Given the description of an element on the screen output the (x, y) to click on. 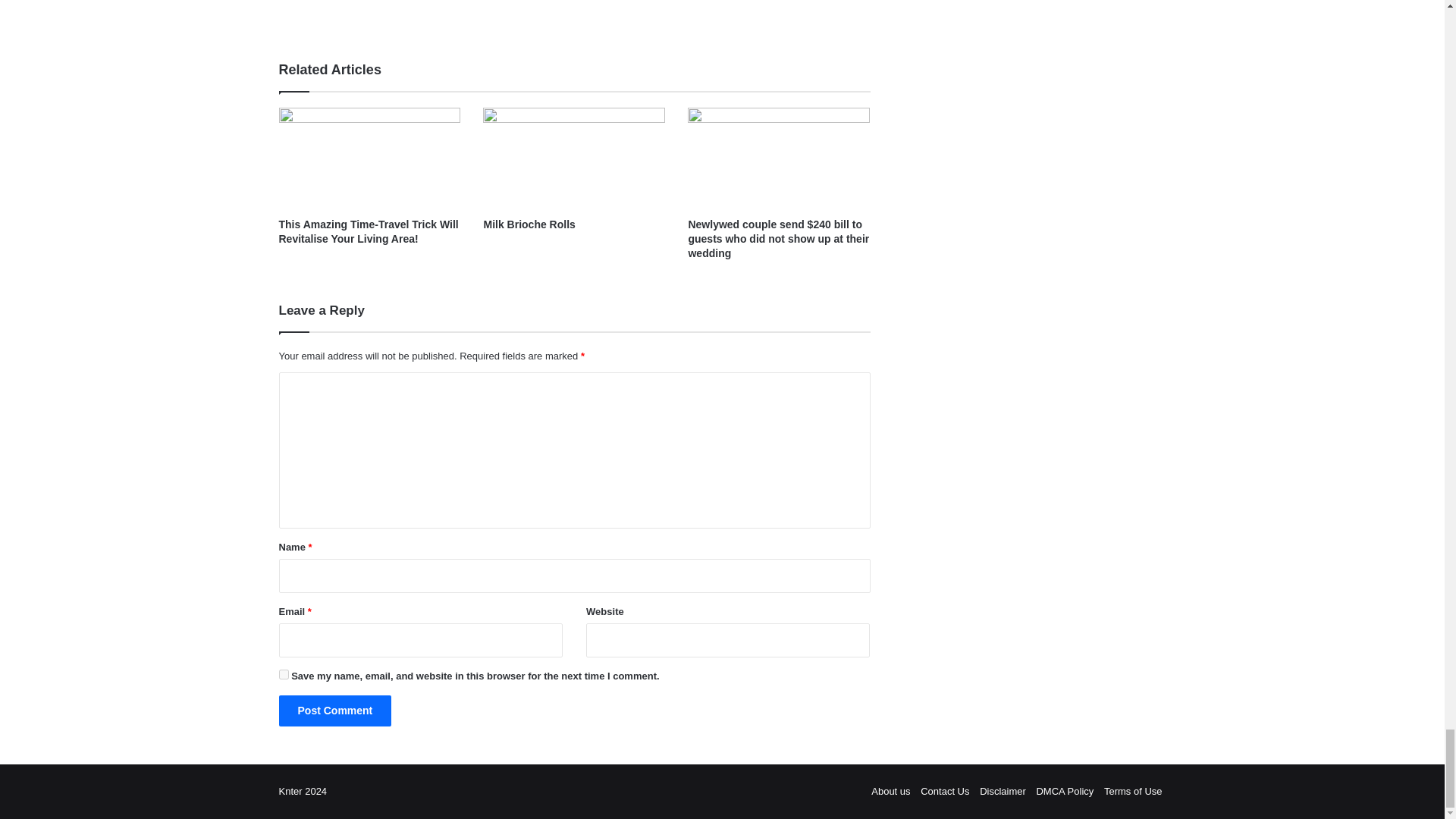
yes (283, 674)
DMCA Policy (1064, 790)
Post Comment (335, 710)
Terms of Use (1132, 790)
Contact Us (944, 790)
Post Comment (335, 710)
Disclaimer (1002, 790)
Milk Brioche Rolls (529, 224)
About us (890, 790)
